Given the description of an element on the screen output the (x, y) to click on. 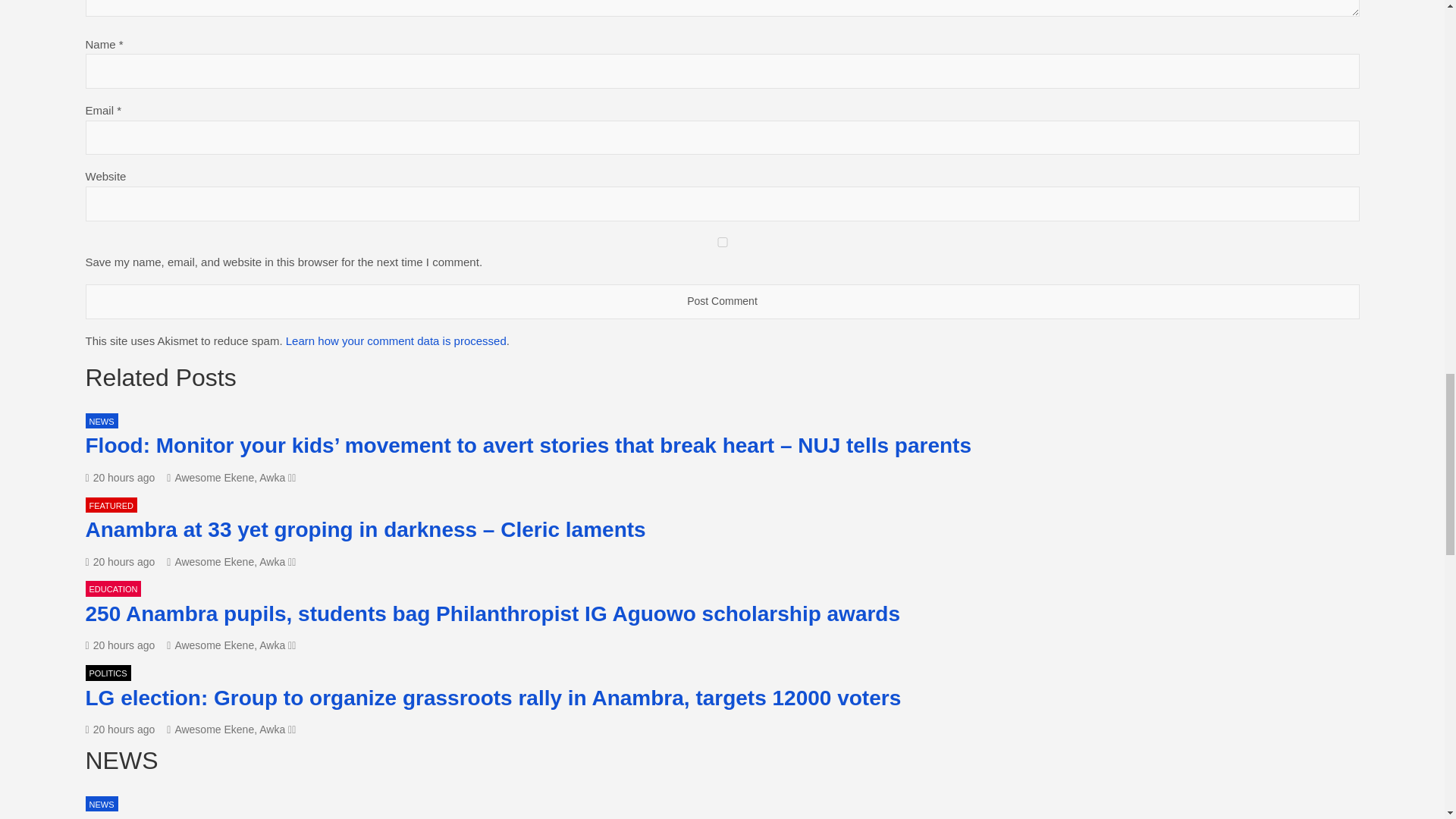
Post Comment (721, 301)
